Given the description of an element on the screen output the (x, y) to click on. 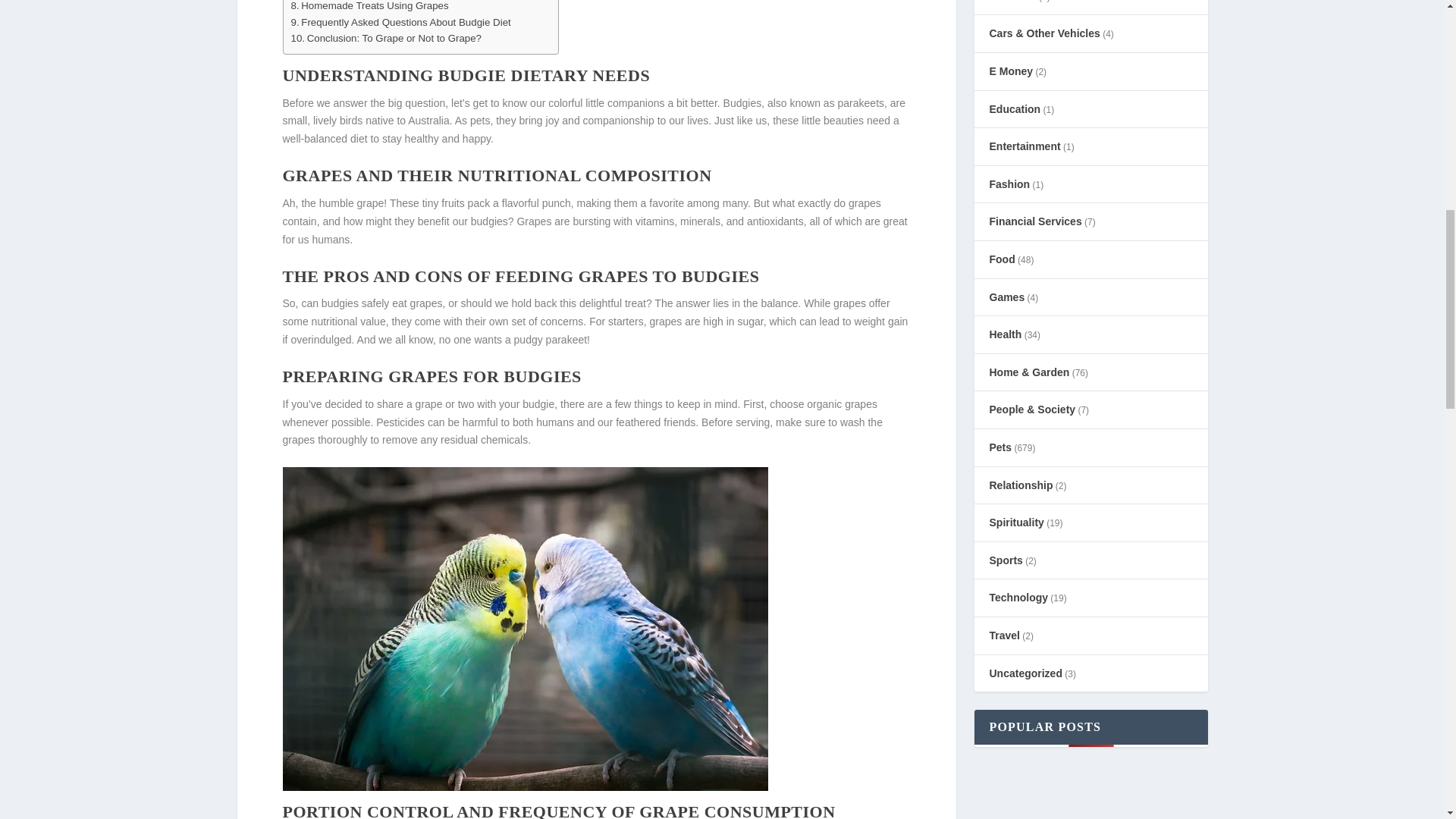
Frequently Asked Questions About Budgie Diet (401, 21)
Conclusion: To Grape or Not to Grape? (386, 37)
Homemade Treats Using Grapes (369, 6)
